Given the description of an element on the screen output the (x, y) to click on. 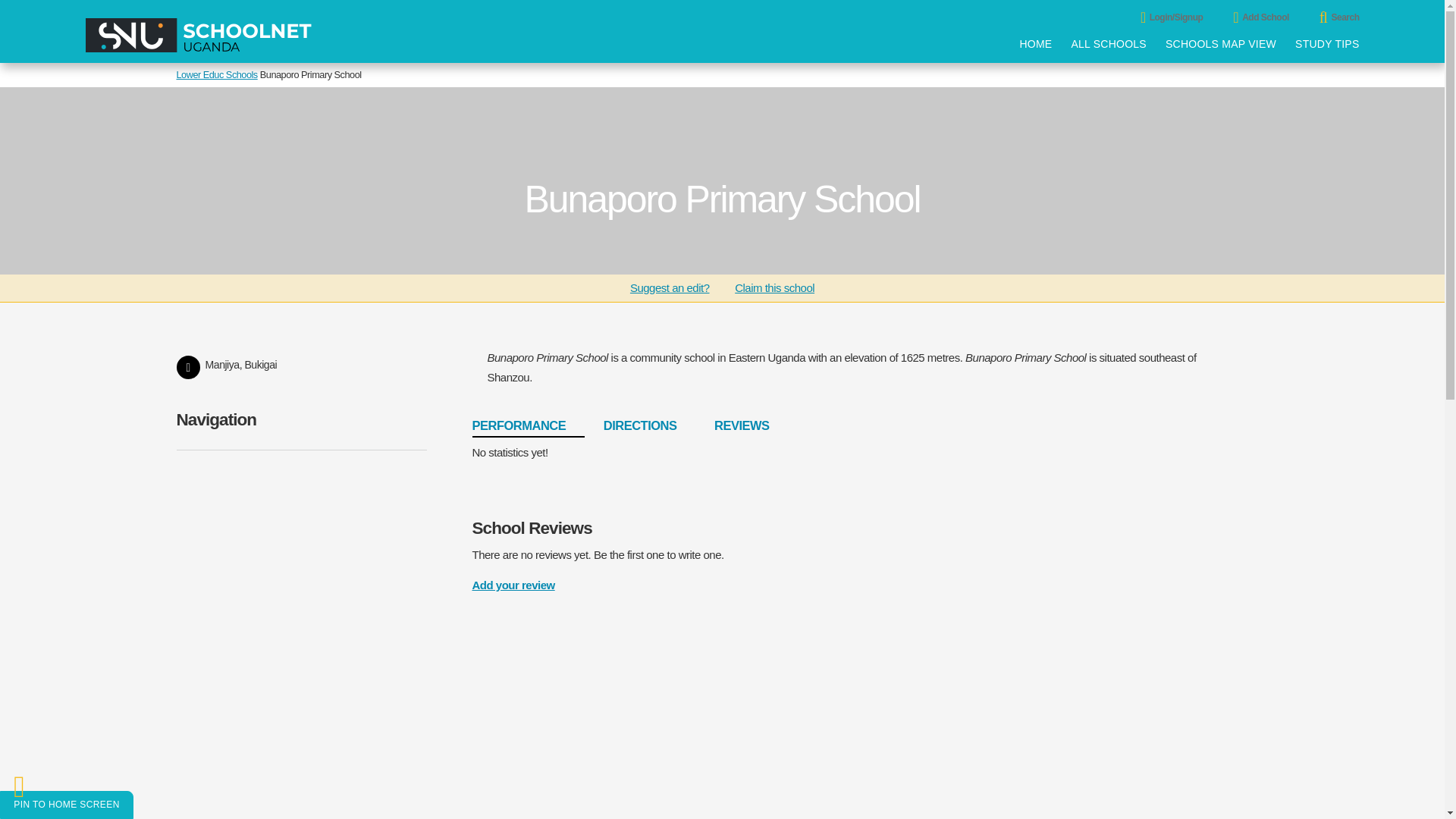
Claim this school (774, 288)
STUDY TIPS (1326, 44)
HOME (1035, 44)
Add School (1276, 16)
ALL SCHOOLS (1108, 44)
Suggest an edit? (669, 288)
Lower Educ Schools (216, 73)
Search (1354, 16)
SCHOOLS MAP VIEW (1221, 44)
Add your review (512, 584)
